Given the description of an element on the screen output the (x, y) to click on. 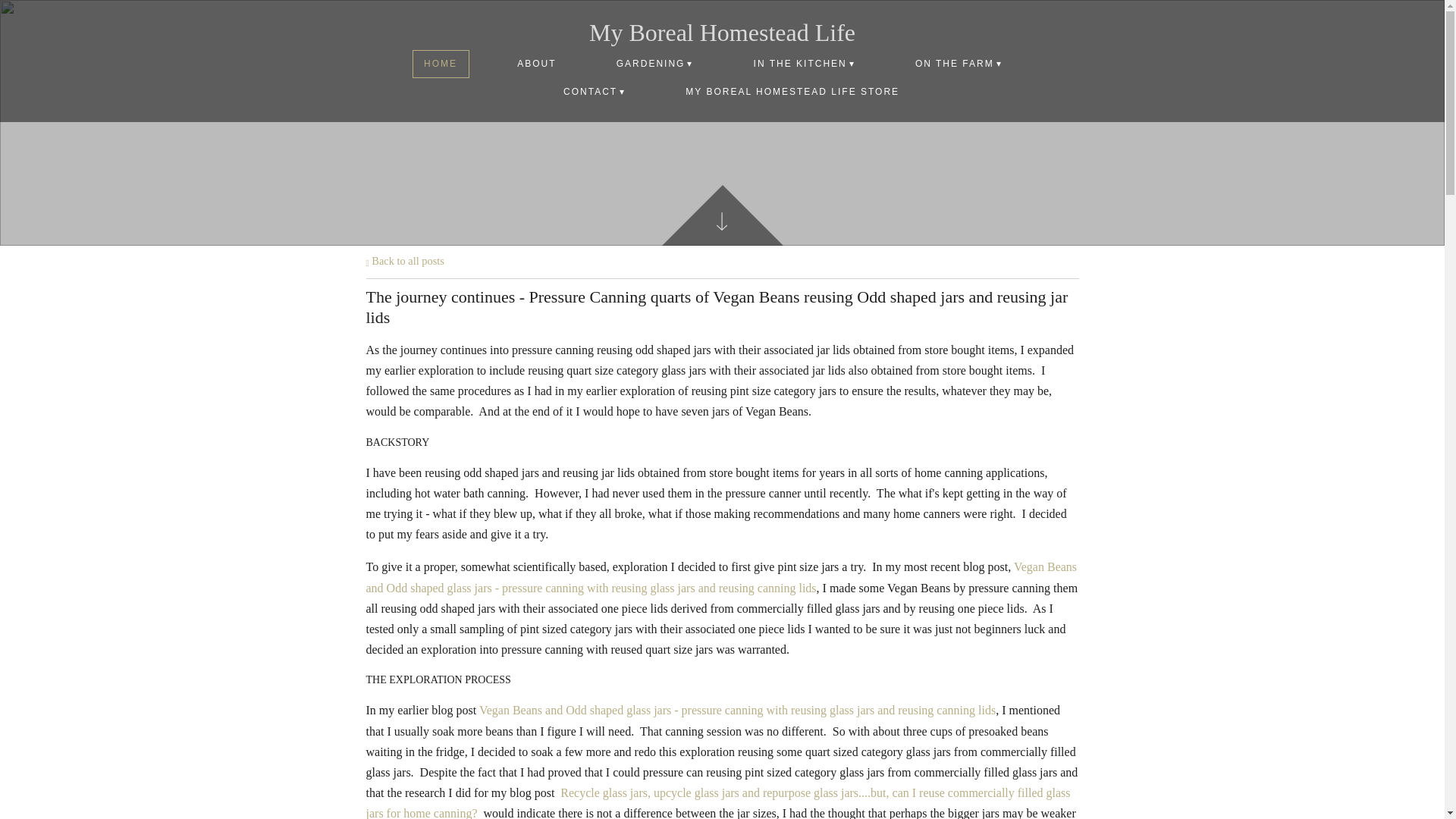
Back to all posts (404, 260)
HOME (440, 63)
ON THE FARM (959, 63)
IN THE KITCHEN (803, 63)
My Boreal Homestead Life (722, 32)
GARDENING (654, 63)
CONTACT (594, 91)
